Given the description of an element on the screen output the (x, y) to click on. 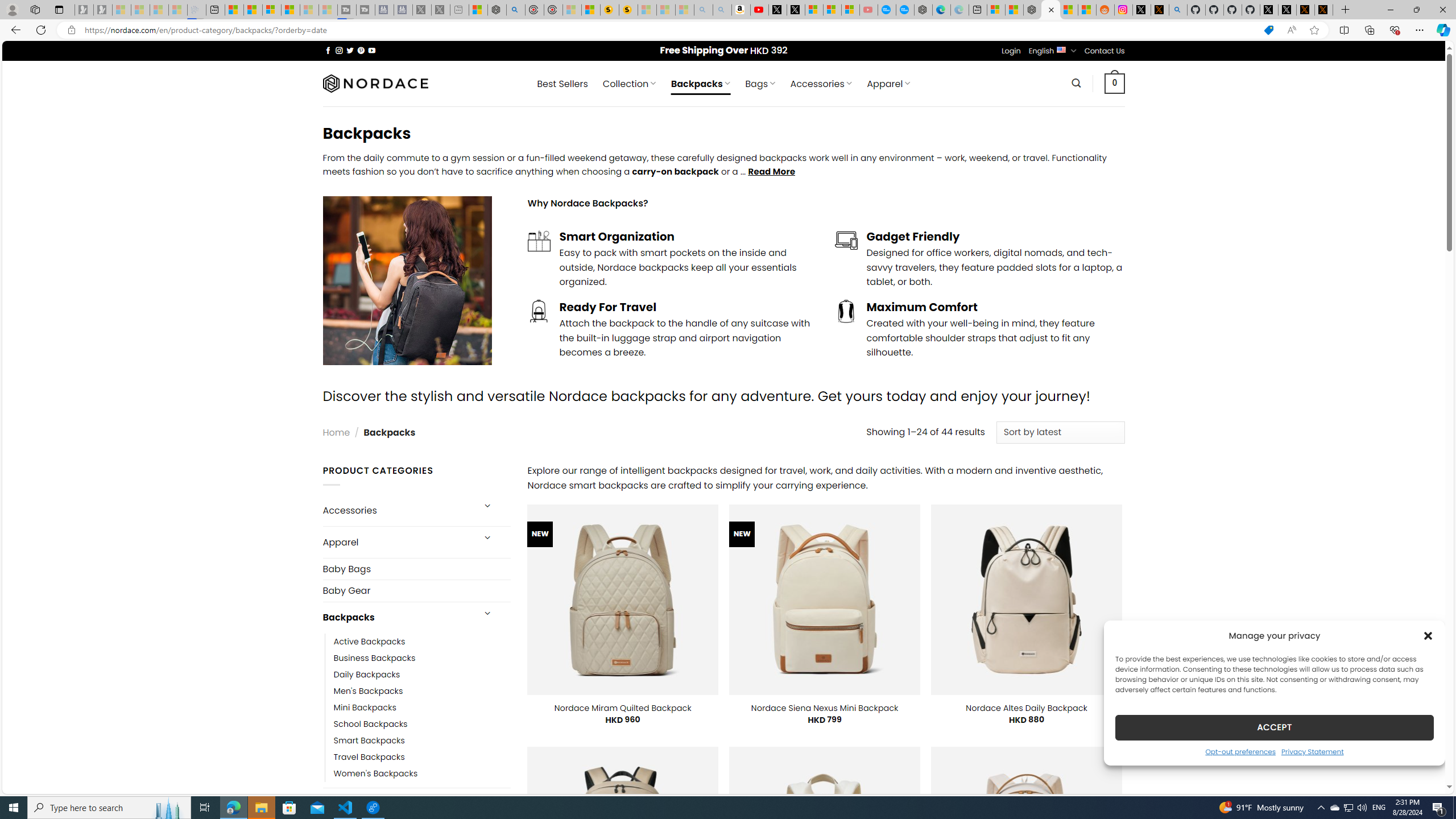
Contact Us (1104, 50)
Newsletter Sign Up - Sleeping (102, 9)
Bags (397, 803)
Nordace - Backpacks (1050, 9)
Mini Backpacks (364, 706)
